Given the description of an element on the screen output the (x, y) to click on. 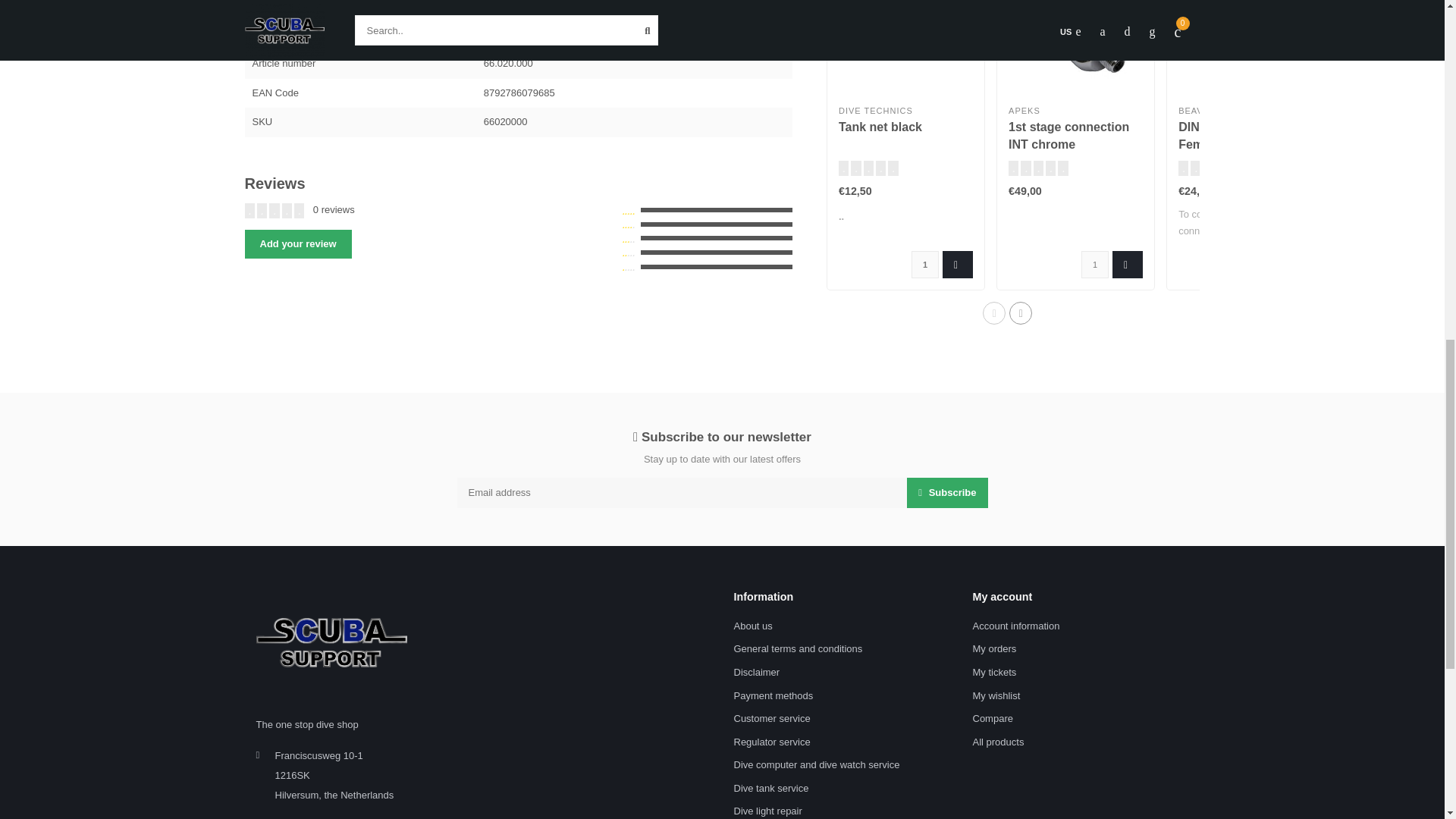
General terms and conditions (798, 649)
About us (753, 626)
1 (1094, 264)
1 (925, 264)
